Given the description of an element on the screen output the (x, y) to click on. 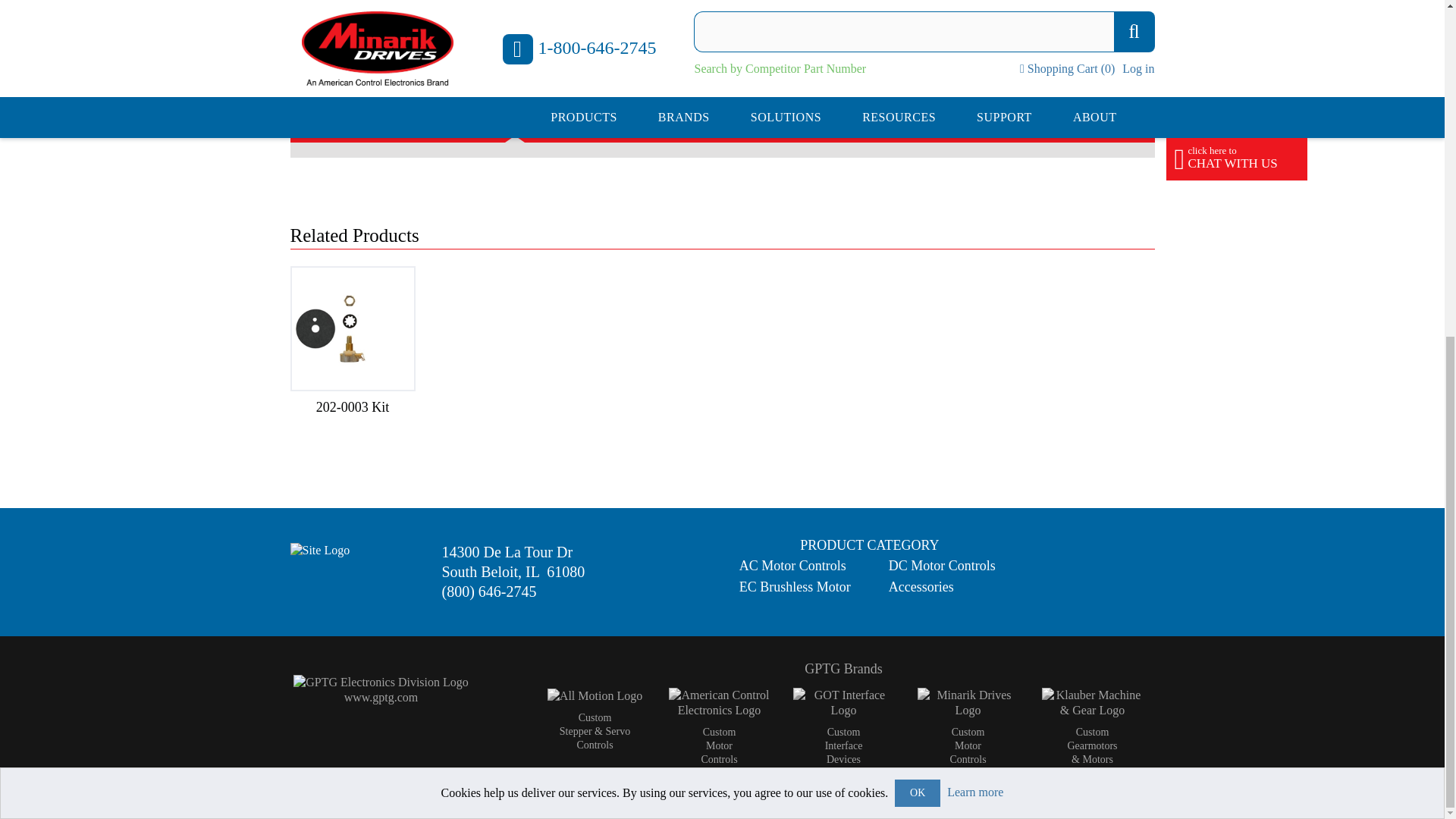
202-0003 Pot and Connector Kit (352, 328)
